Given the description of an element on the screen output the (x, y) to click on. 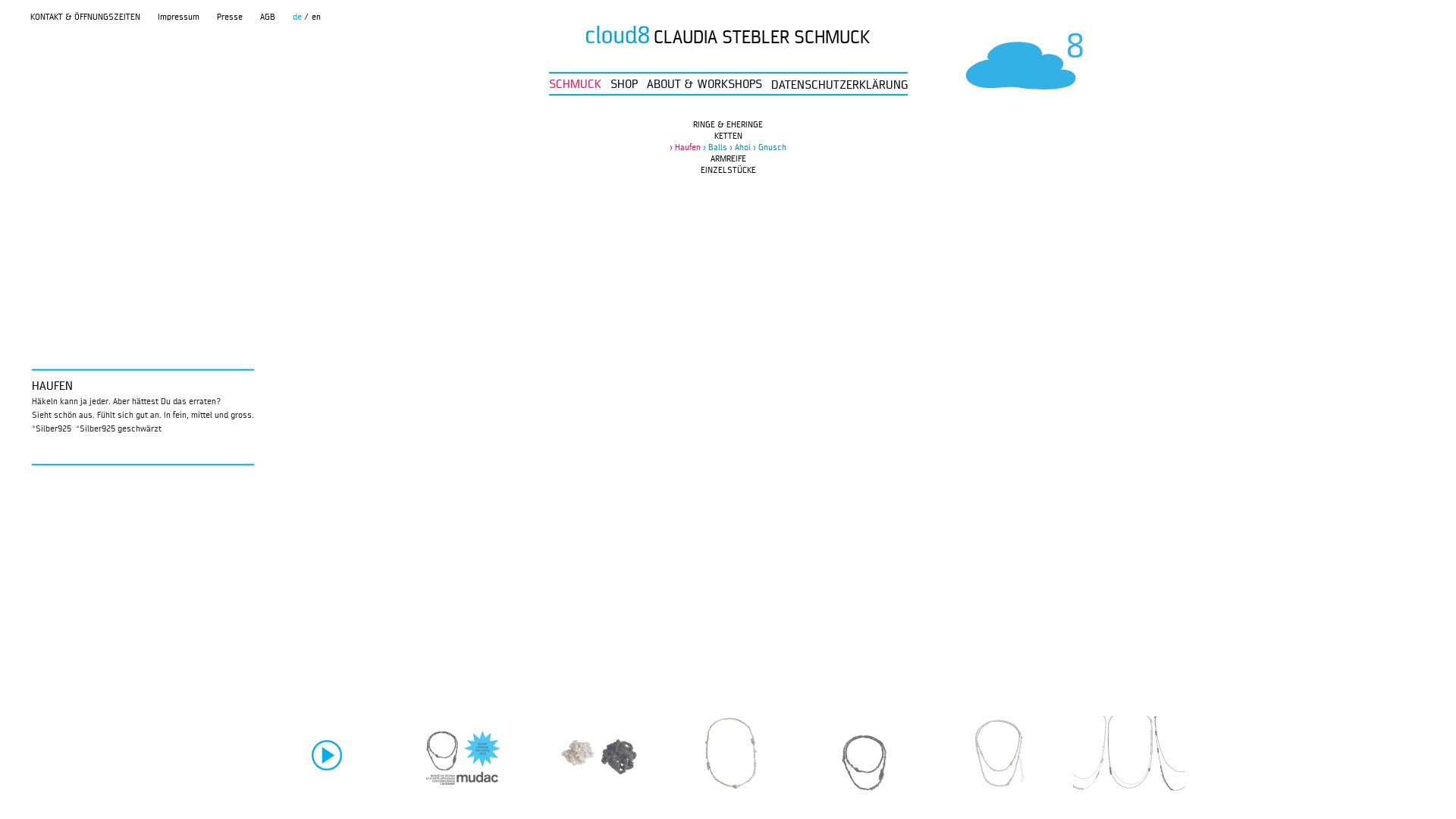
Haufen Element type: text (684, 147)
Impressum Element type: text (178, 17)
en Element type: text (315, 17)
ABOUT & WORKSHOPS Element type: text (703, 84)
KETTEN Element type: text (728, 136)
Ahoi Element type: text (739, 147)
Balls Element type: text (714, 147)
Gnusch Element type: text (769, 147)
ARMREIFE Element type: text (727, 159)
SHOP Element type: text (623, 84)
SCHMUCK Element type: text (575, 84)
Presse Element type: text (229, 17)
AGB Element type: text (267, 17)
RINGE & EHERINGE Element type: text (727, 124)
CLAUDIA STEBLER SCHMUCK Element type: text (727, 38)
de Element type: text (296, 17)
